Given the description of an element on the screen output the (x, y) to click on. 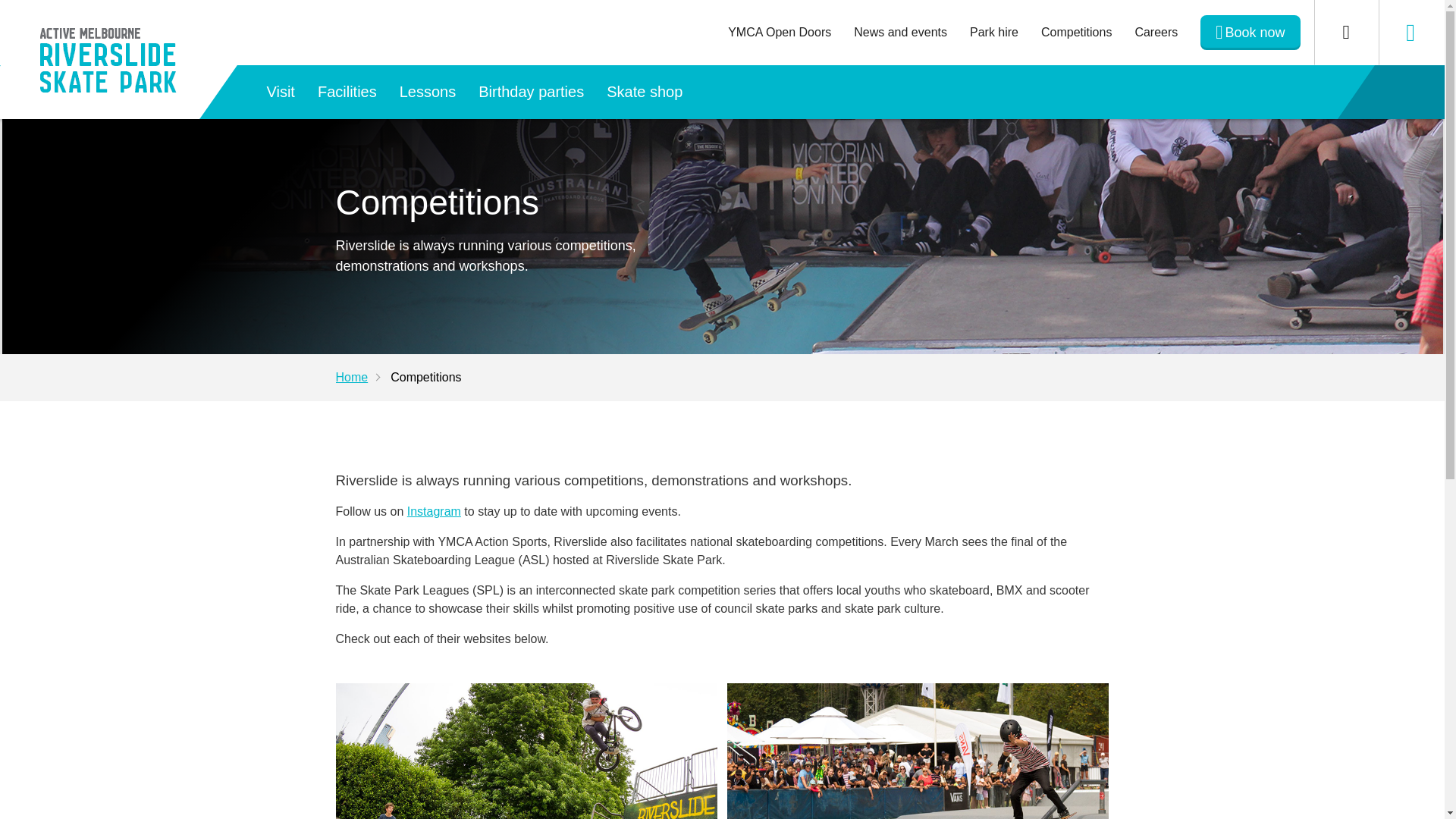
Book now (1249, 32)
Visit (279, 91)
Facilities (346, 91)
Instagram (434, 511)
Skate shop (644, 91)
Careers (1155, 32)
Locate (1410, 32)
News and events (900, 32)
Birthday parties (531, 91)
Competitions (1075, 32)
Park hire (993, 32)
Lessons (427, 91)
YMCA Open Doors (779, 32)
Home (362, 377)
